Given the description of an element on the screen output the (x, y) to click on. 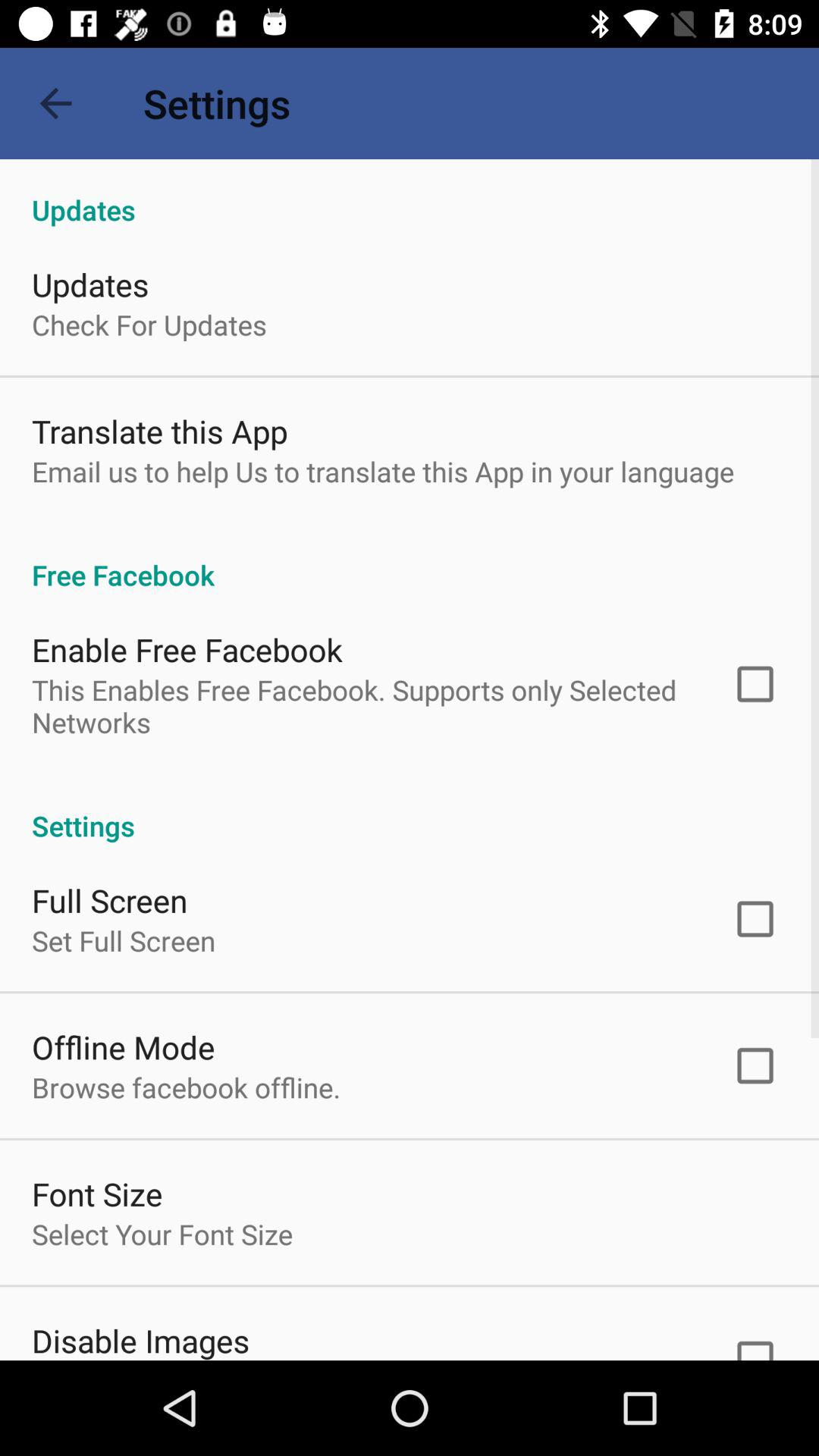
flip until email us to app (382, 471)
